Given the description of an element on the screen output the (x, y) to click on. 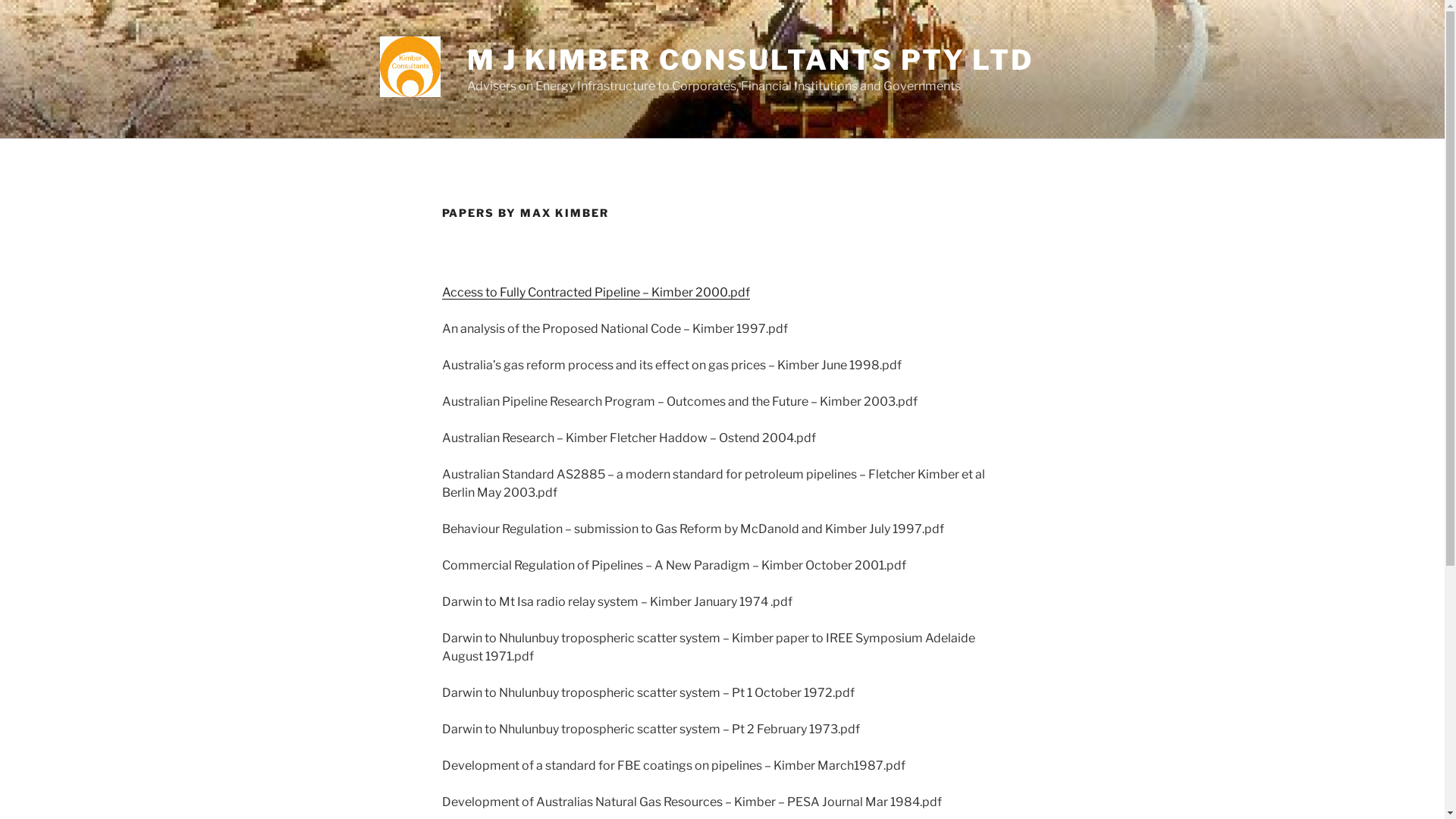
M J KIMBER CONSULTANTS PTY LTD Element type: text (750, 59)
